Given the description of an element on the screen output the (x, y) to click on. 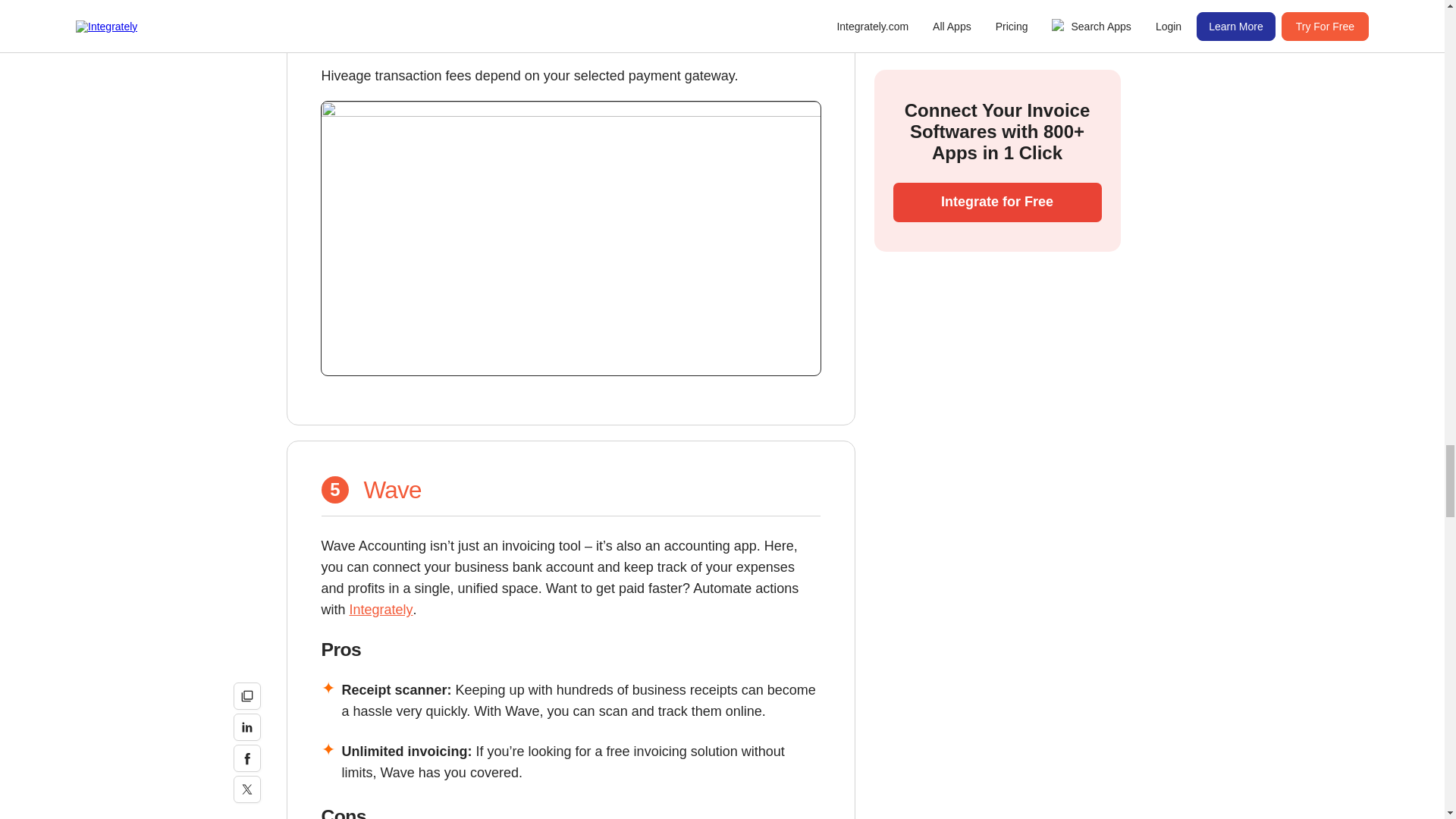
Integrately (381, 609)
Wave (393, 489)
